Given the description of an element on the screen output the (x, y) to click on. 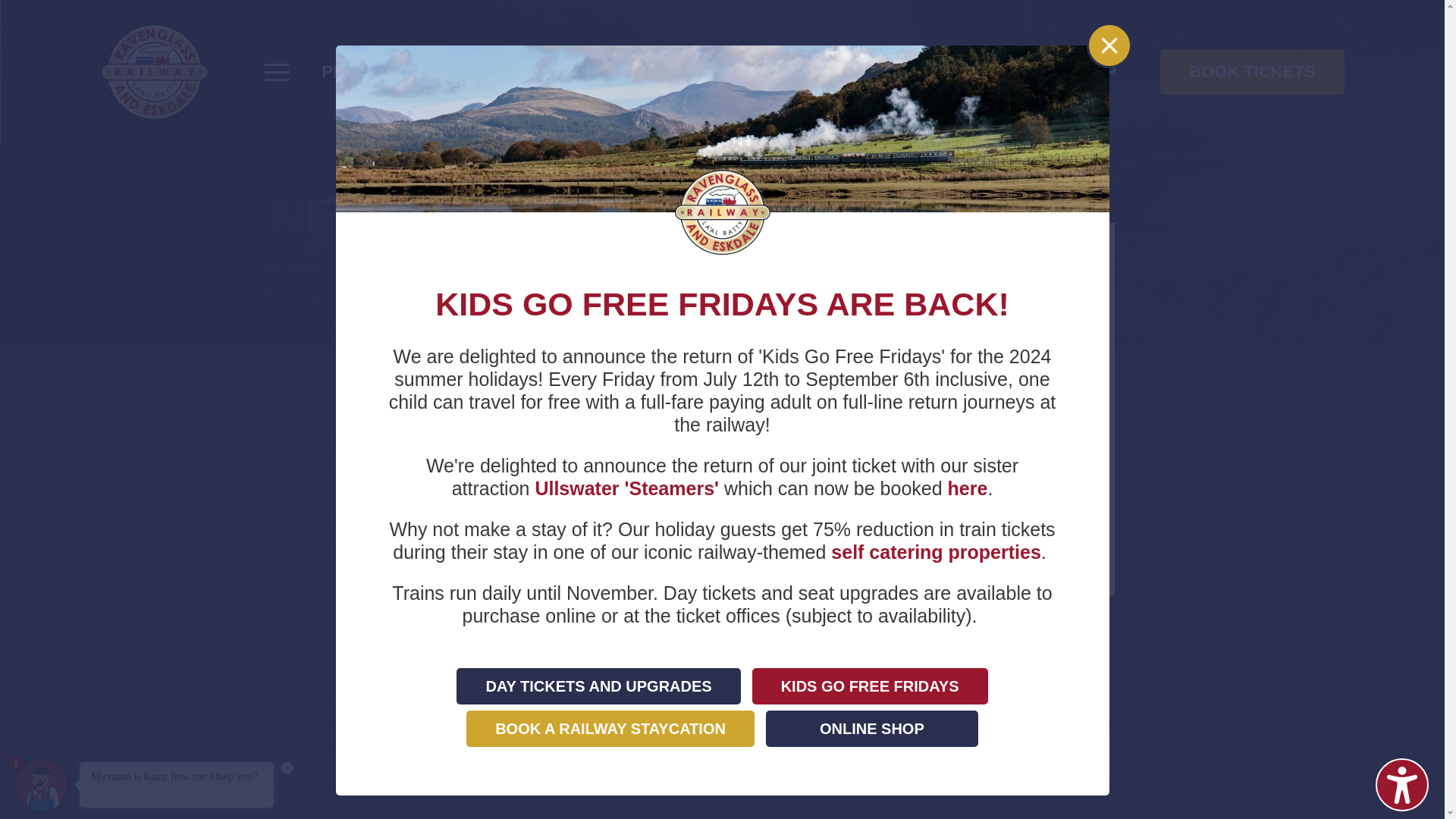
Webcam (1417, 336)
Close (1108, 44)
STAYING OVER (779, 71)
EVENTS (650, 71)
GIFT EXPERIENCES (957, 71)
GROUPS (546, 71)
PLAN YOUR VISIT (397, 71)
SHOP (1092, 71)
